Given the description of an element on the screen output the (x, y) to click on. 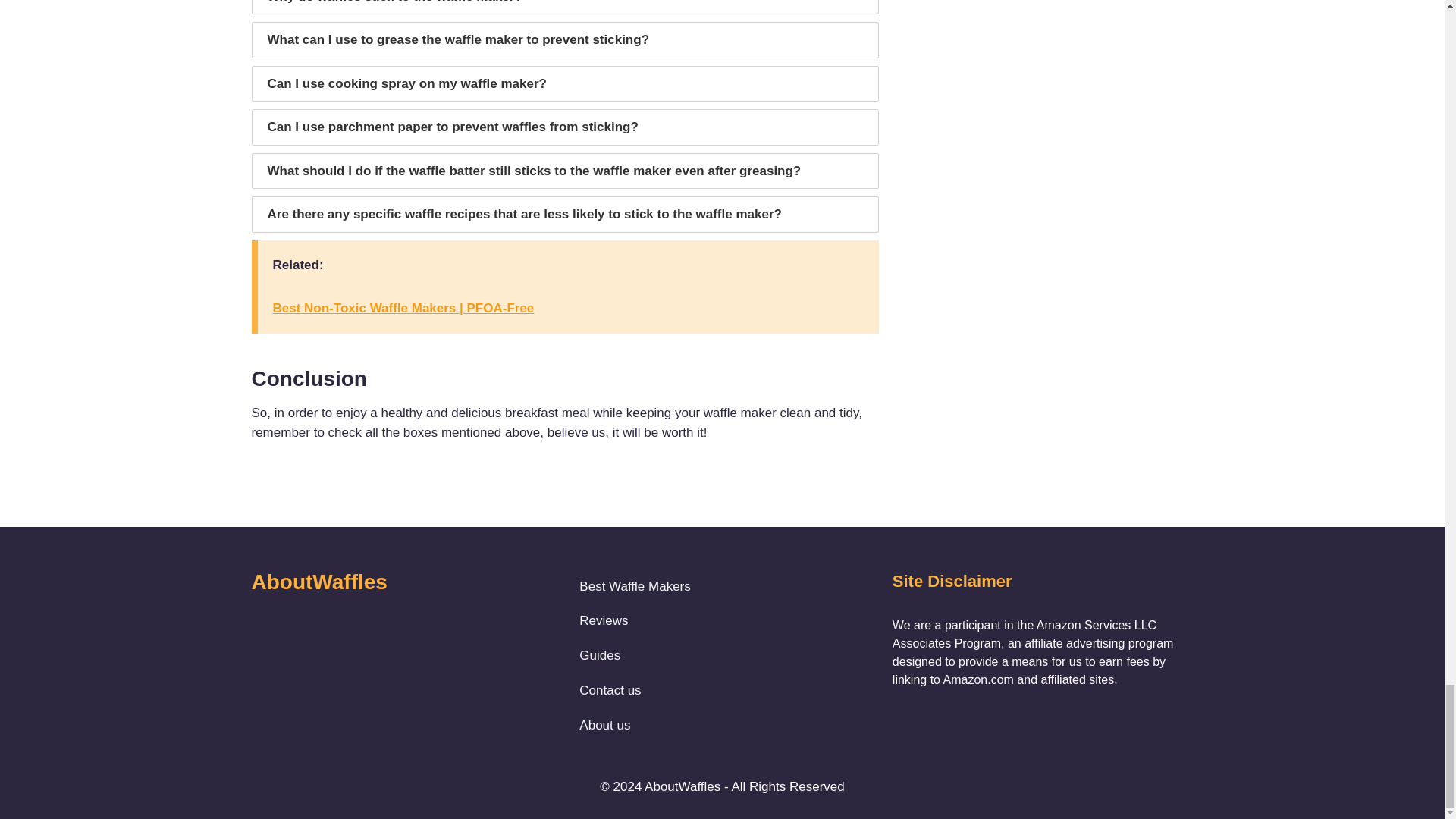
Best Waffle Makers (635, 585)
Contact us (635, 690)
Reviews (635, 620)
Guides (635, 655)
About us (635, 725)
